Given the description of an element on the screen output the (x, y) to click on. 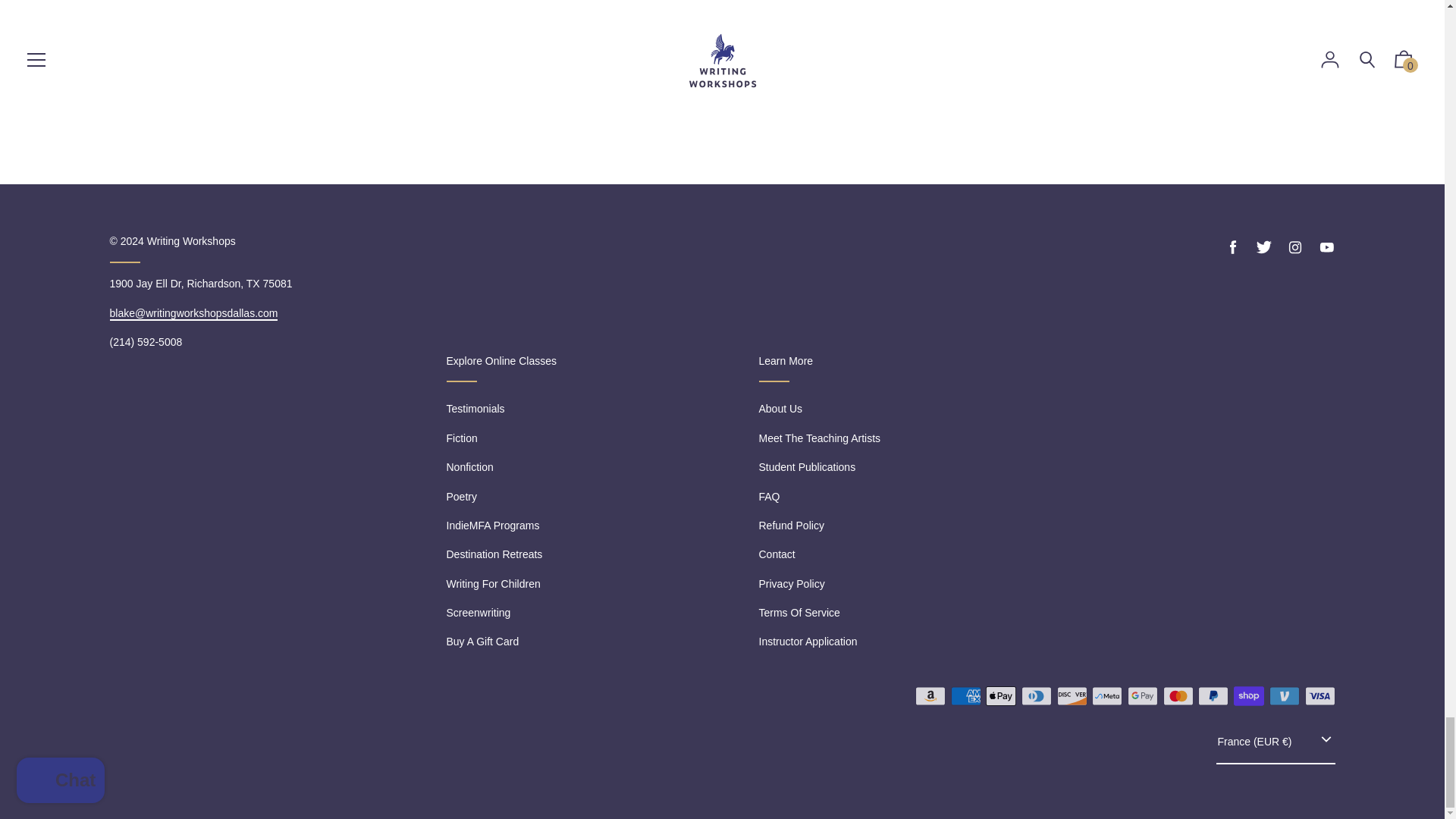
Mastercard (1178, 695)
Apple Pay (1000, 695)
Writing Workshops on Instagram (1295, 247)
Discover (1072, 695)
Shop Pay (1248, 695)
Amazon (929, 695)
Writing Workshops on Facebook (1232, 247)
Meta Pay (1107, 695)
American Express (965, 695)
Writing Workshops on Twitter (1263, 247)
